Given the description of an element on the screen output the (x, y) to click on. 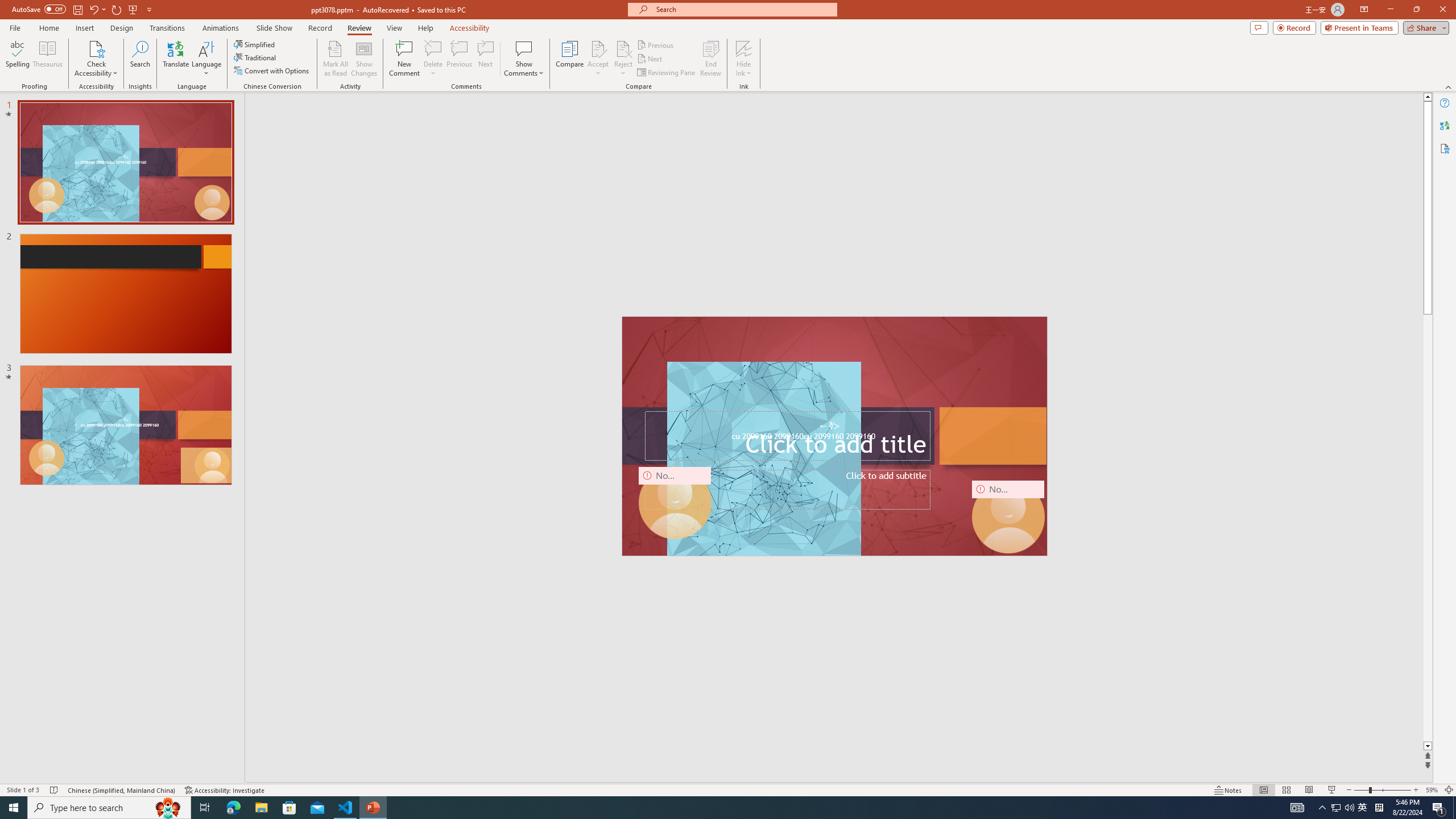
Previous (655, 44)
End Review (710, 58)
Thesaurus... (47, 58)
Camera 9, No camera detected. (674, 503)
Mark All as Read (335, 58)
